Given the description of an element on the screen output the (x, y) to click on. 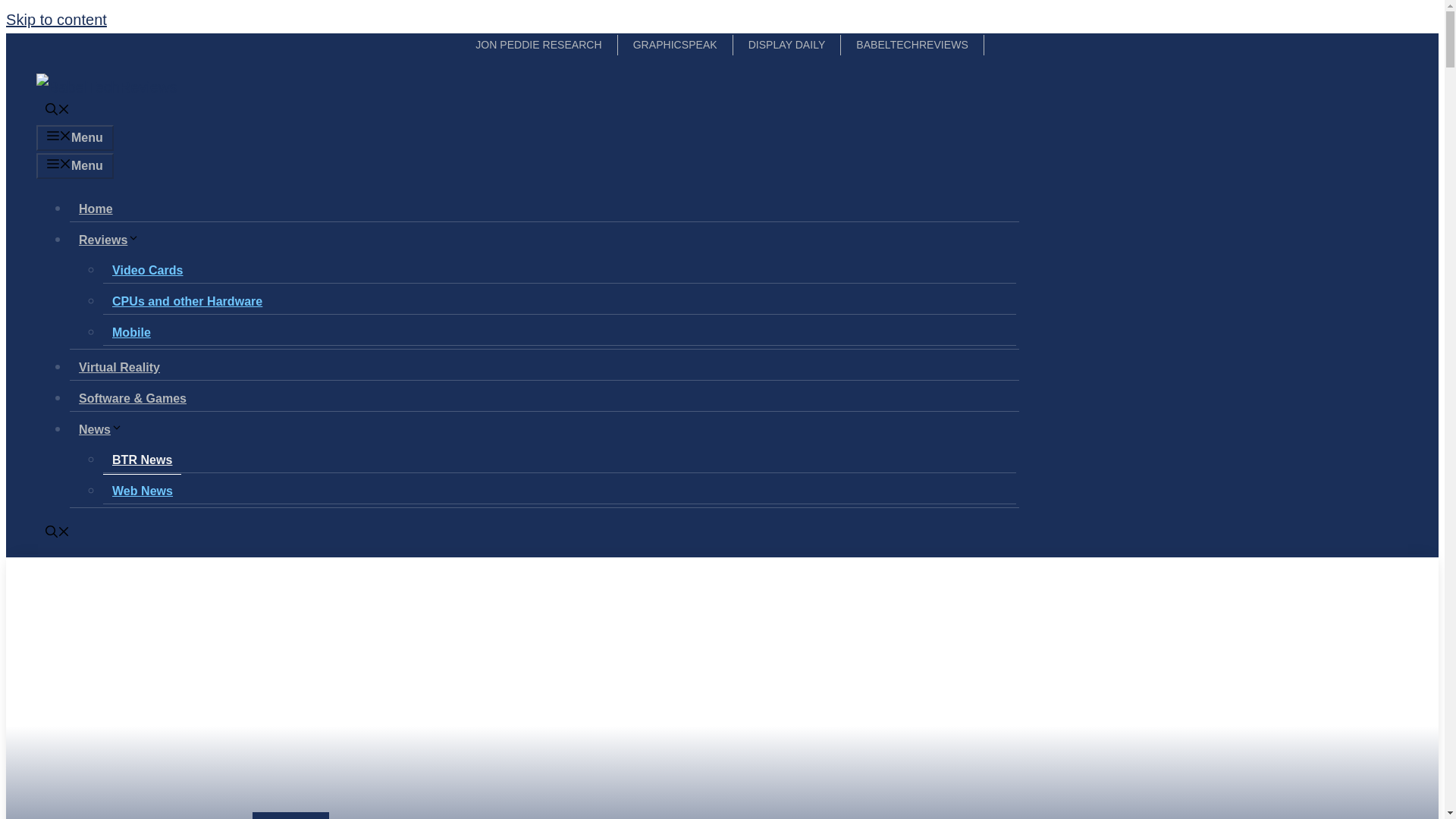
News (105, 429)
Menu (74, 166)
Virtual Reality (118, 367)
Skip to content (55, 19)
Video Cards (147, 270)
CPUs and other Hardware (186, 301)
JON PEDDIE RESEARCH (538, 45)
BABELTECHREVIEWS (912, 45)
Menu (74, 137)
GRAPHICSPEAK (675, 45)
Web News (142, 490)
Home (95, 208)
DISPLAY DAILY (787, 45)
Mobile (131, 332)
Reviews (113, 239)
